Given the description of an element on the screen output the (x, y) to click on. 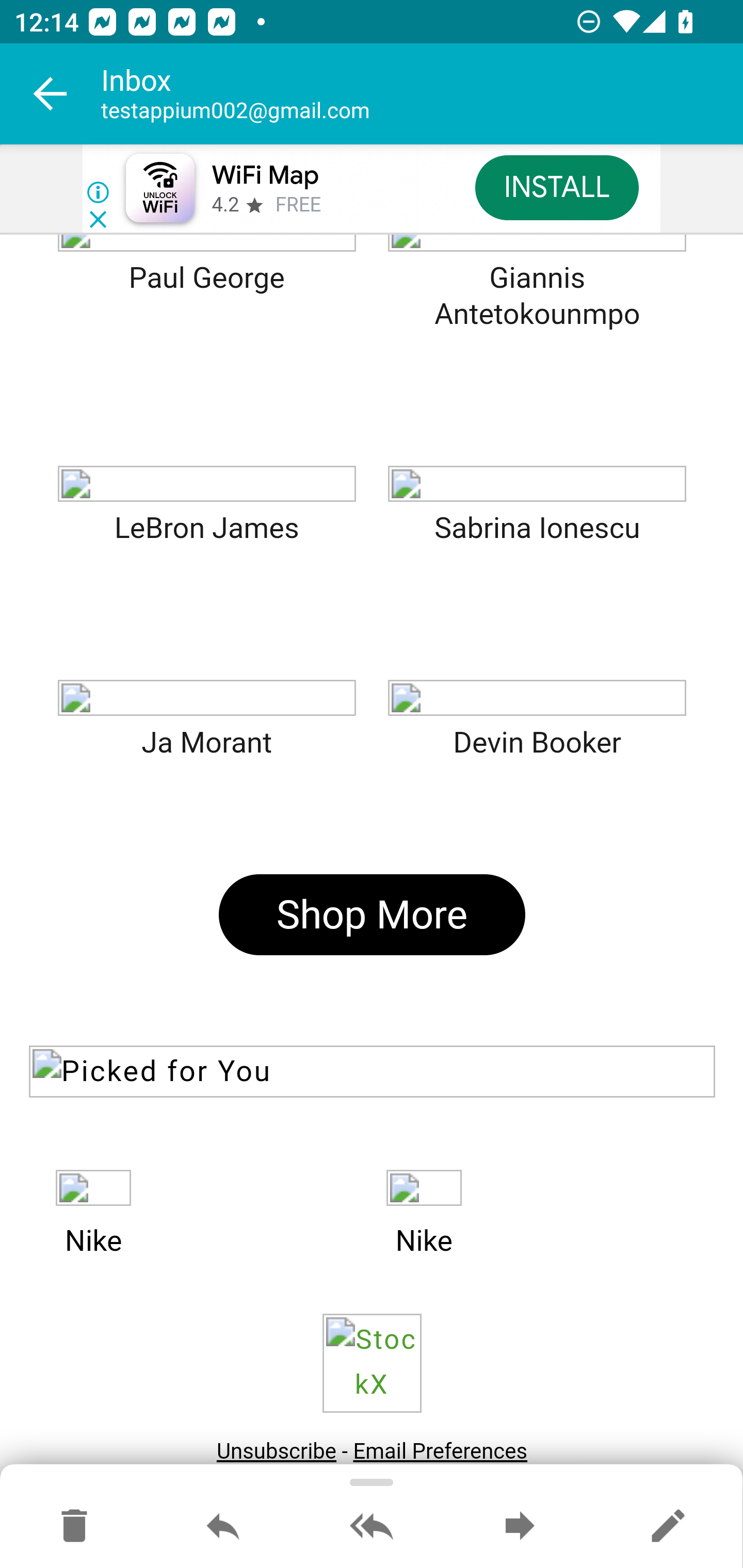
Navigate up (50, 93)
Inbox testappium002@gmail.com (422, 93)
INSTALL (556, 187)
WiFi Map (265, 175)
click?upn=u001 (206, 484)
click?upn=u001 (537, 484)
click?upn=u001 (206, 699)
click?upn=u001 (537, 699)
Shop More (371, 914)
click?upn=u001 (92, 1188)
click?upn=u001 (423, 1188)
Nike (92, 1242)
Nike (423, 1242)
StockX (371, 1362)
Unsubscribe (275, 1451)
Email Preferences (440, 1451)
Move to Deleted (74, 1527)
Reply (222, 1527)
Reply all (371, 1527)
Forward (519, 1527)
Reply as new (667, 1527)
